Given the description of an element on the screen output the (x, y) to click on. 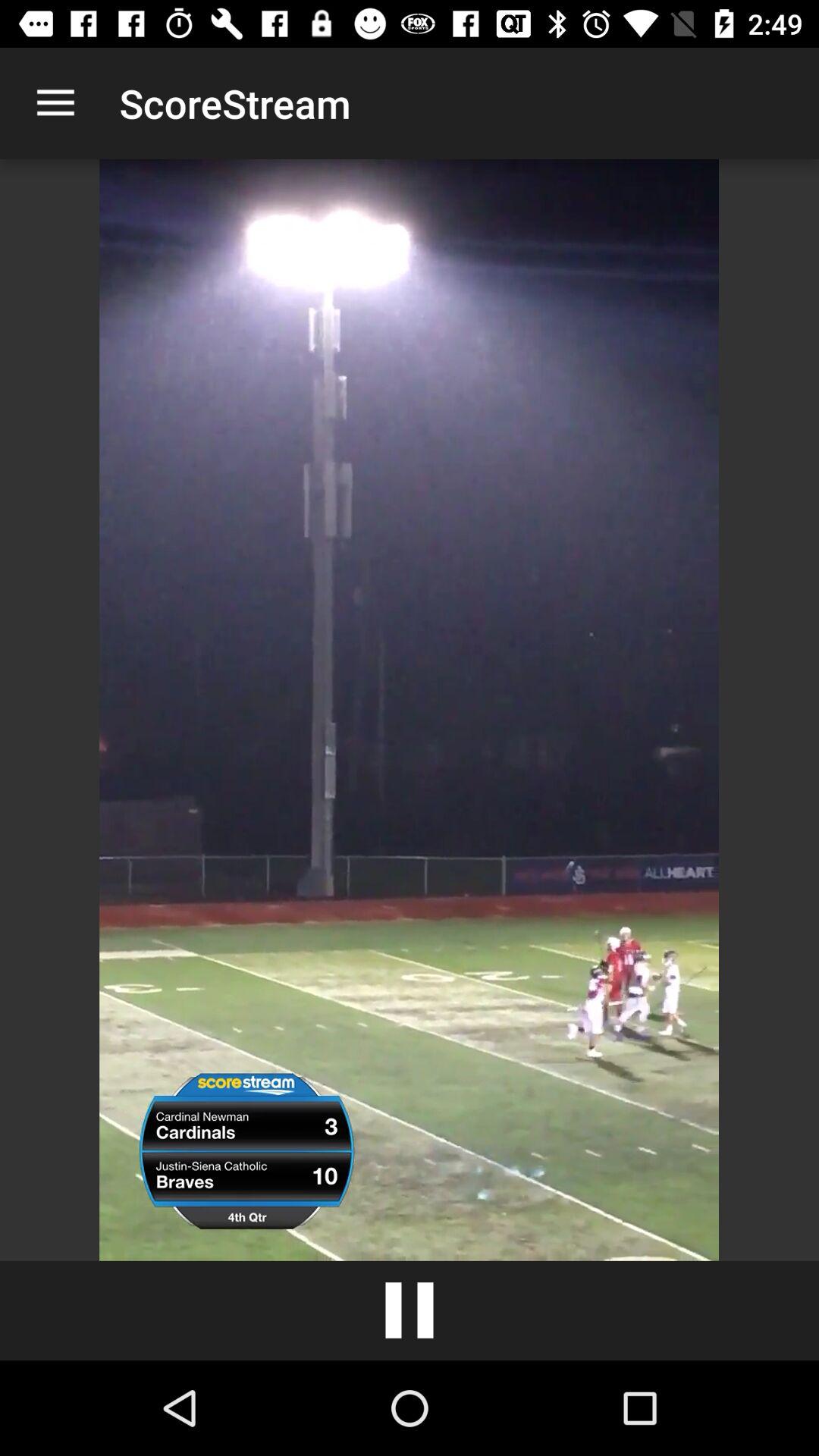
go to play (409, 1310)
